Given the description of an element on the screen output the (x, y) to click on. 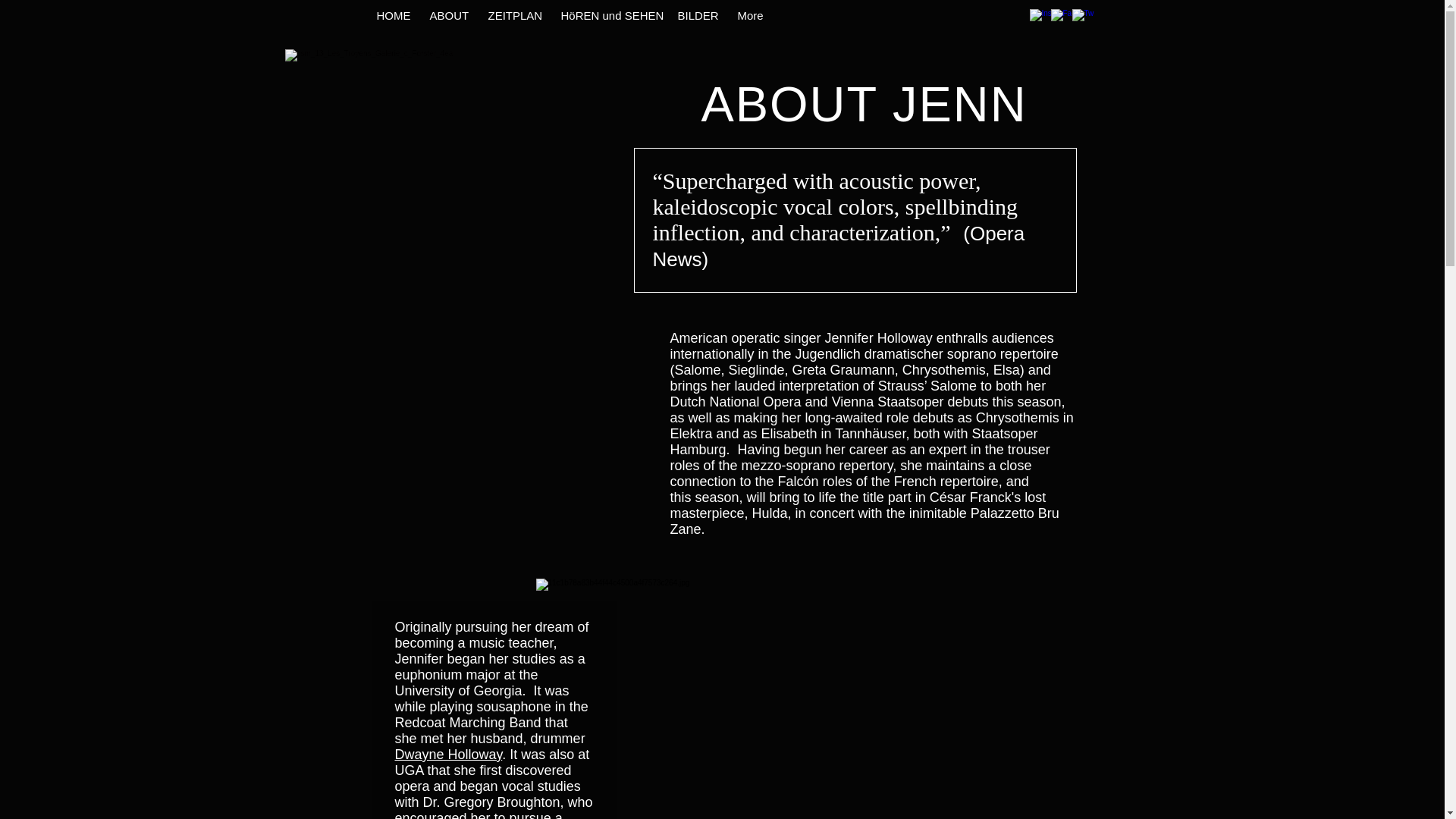
BILDER (695, 15)
ZEITPLAN (512, 15)
Dwayne Holloway (448, 754)
HOME (390, 15)
